Given the description of an element on the screen output the (x, y) to click on. 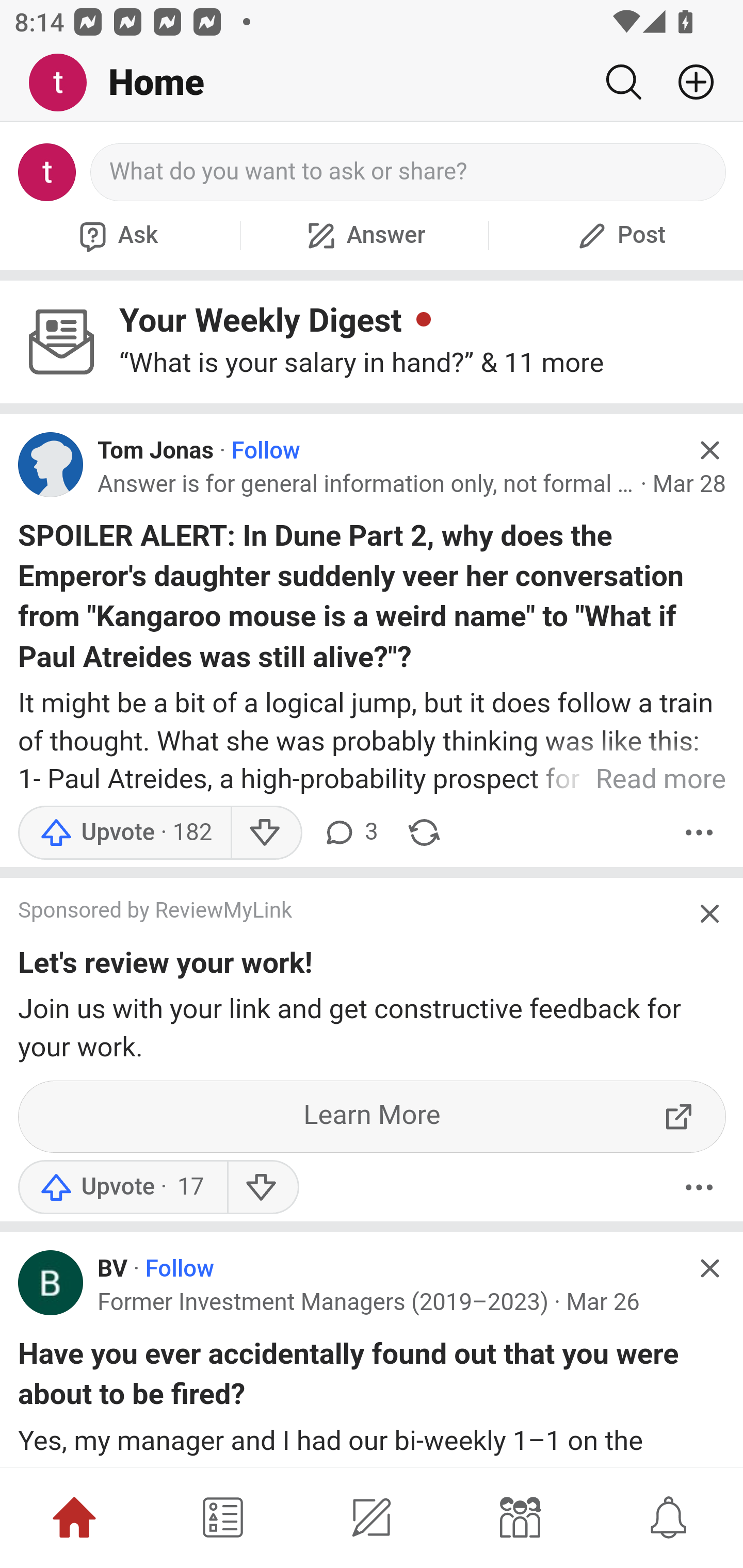
Me Home Search Add (371, 82)
Me (64, 83)
Search (623, 82)
Add (688, 82)
